Given the description of an element on the screen output the (x, y) to click on. 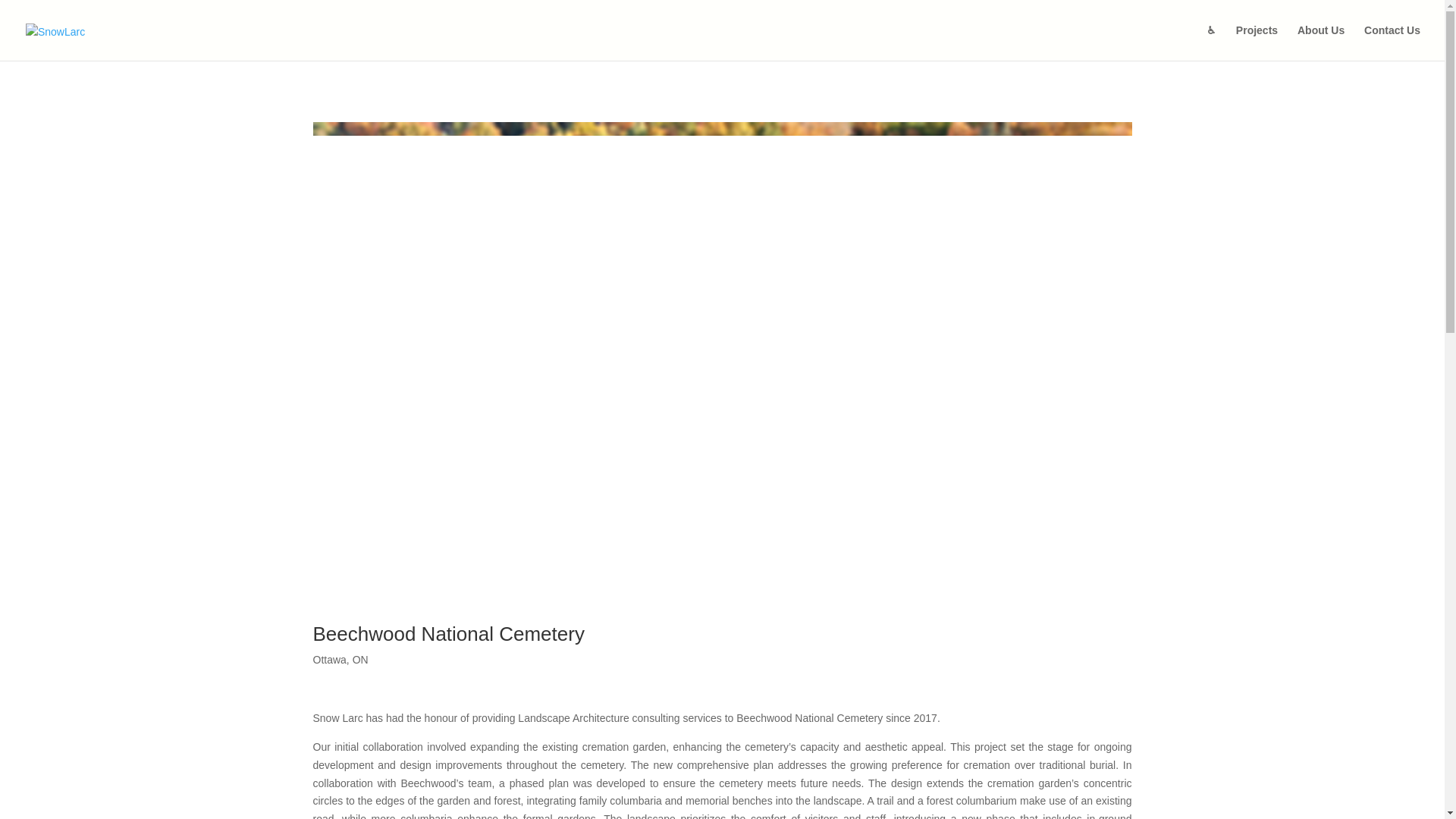
Contact Us (1392, 42)
About Us (1320, 42)
Projects (1257, 42)
